Given the description of an element on the screen output the (x, y) to click on. 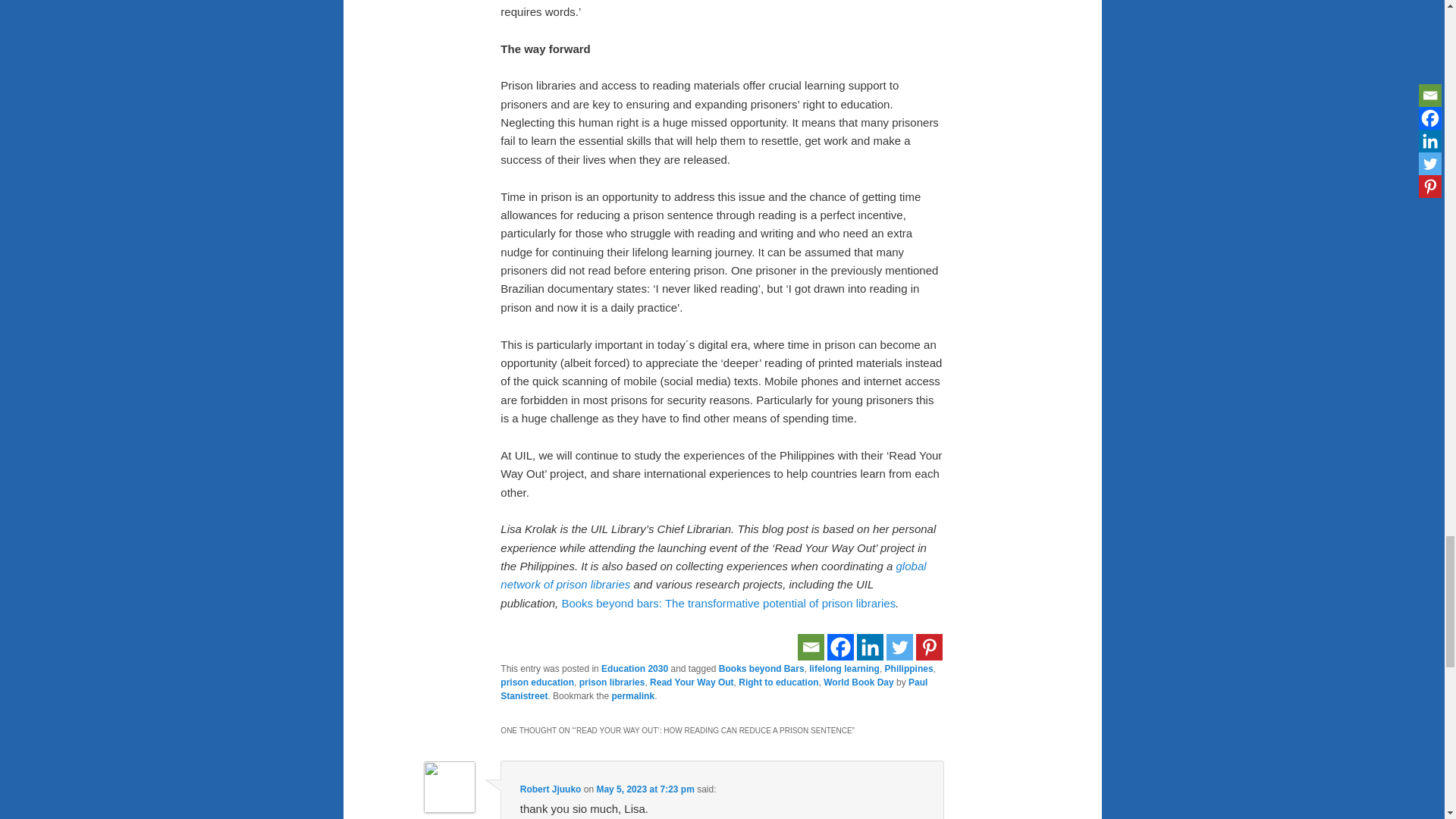
Read Your Way Out (691, 682)
permalink (632, 696)
World Book Day (858, 682)
global network of prison libraries (713, 574)
Email (810, 646)
Paul Stanistreet (713, 689)
lifelong learning (844, 668)
Robert Jjuuko (549, 788)
Philippines (909, 668)
